Given the description of an element on the screen output the (x, y) to click on. 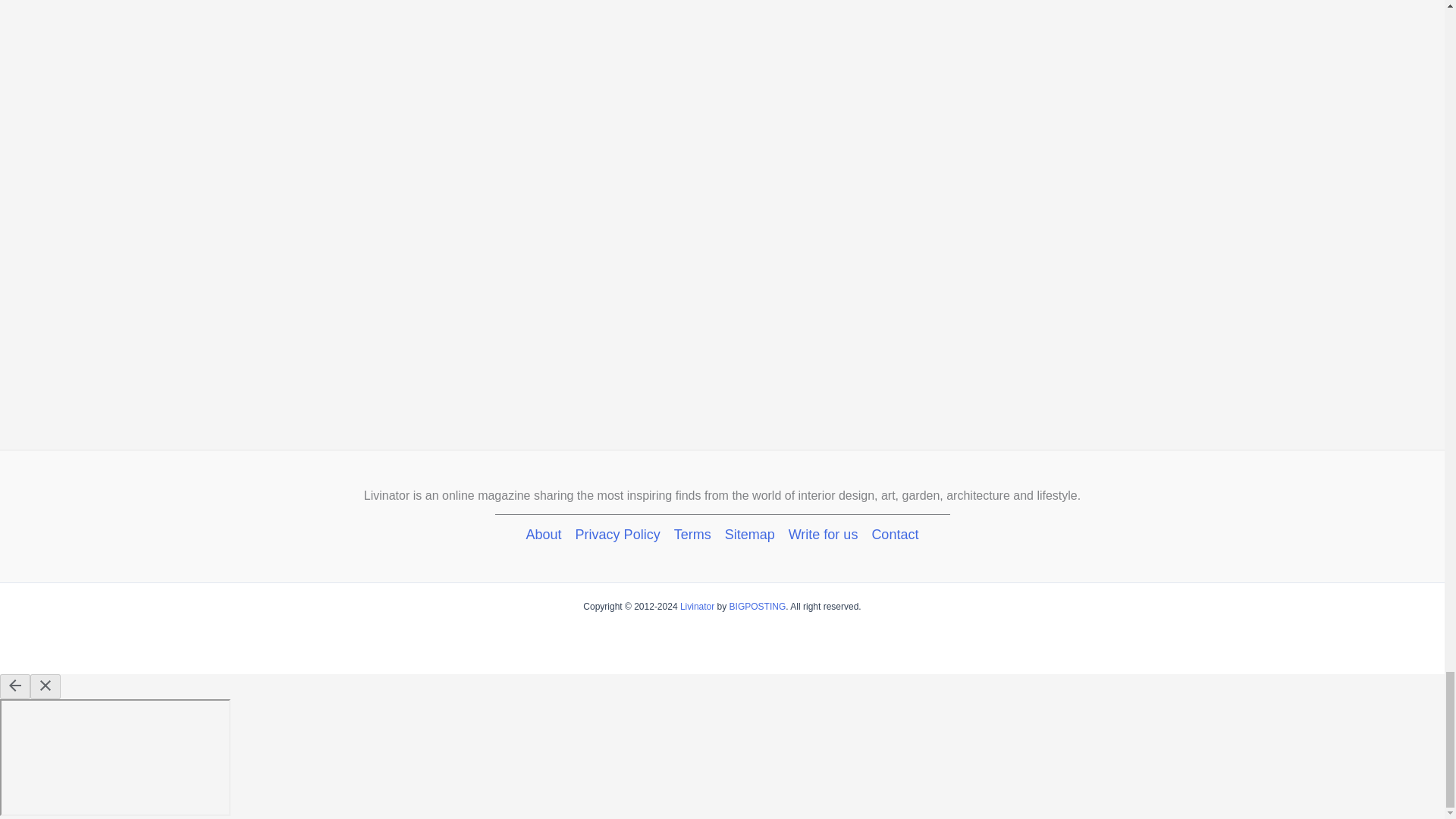
BIGPOSTING (757, 606)
